Given the description of an element on the screen output the (x, y) to click on. 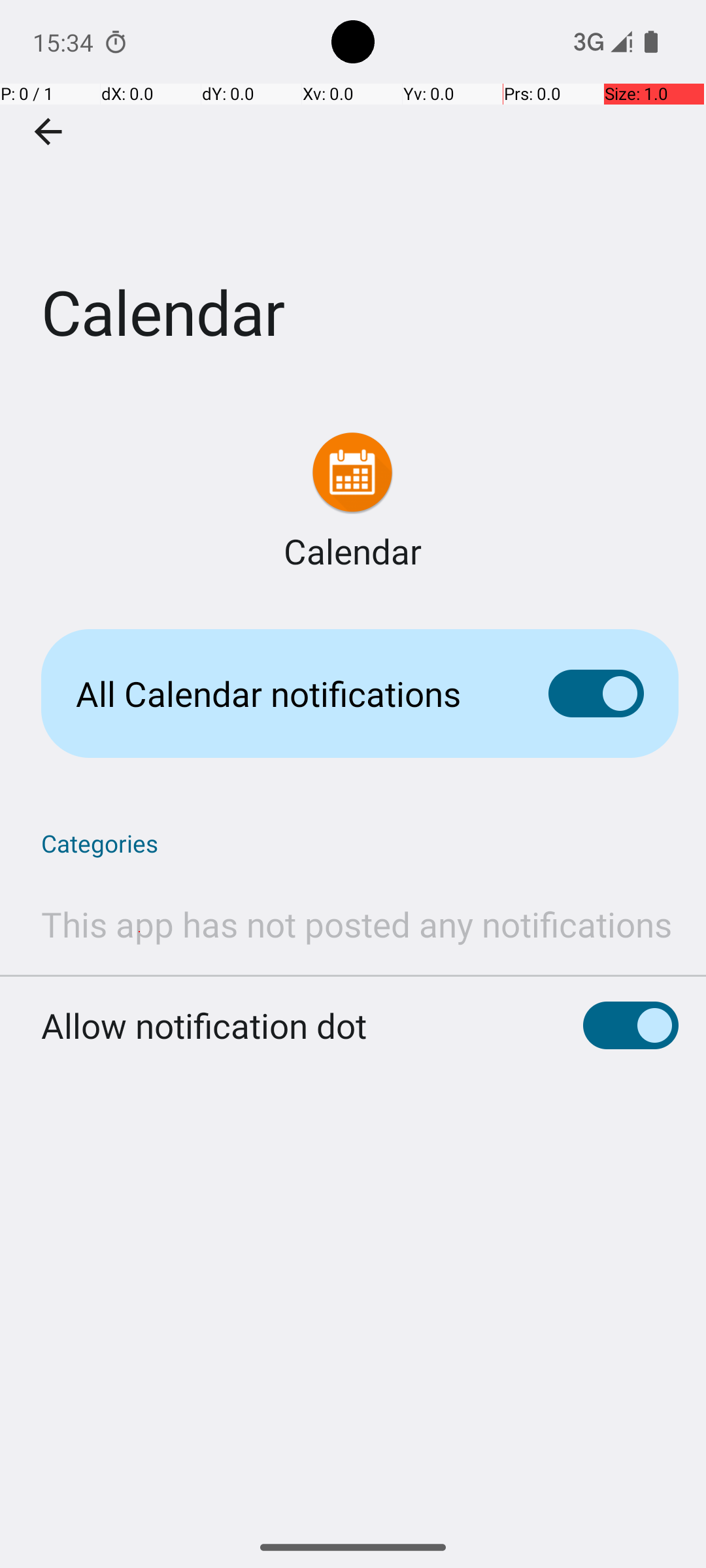
This app has not posted any notifications Element type: android.widget.TextView (356, 923)
